Given the description of an element on the screen output the (x, y) to click on. 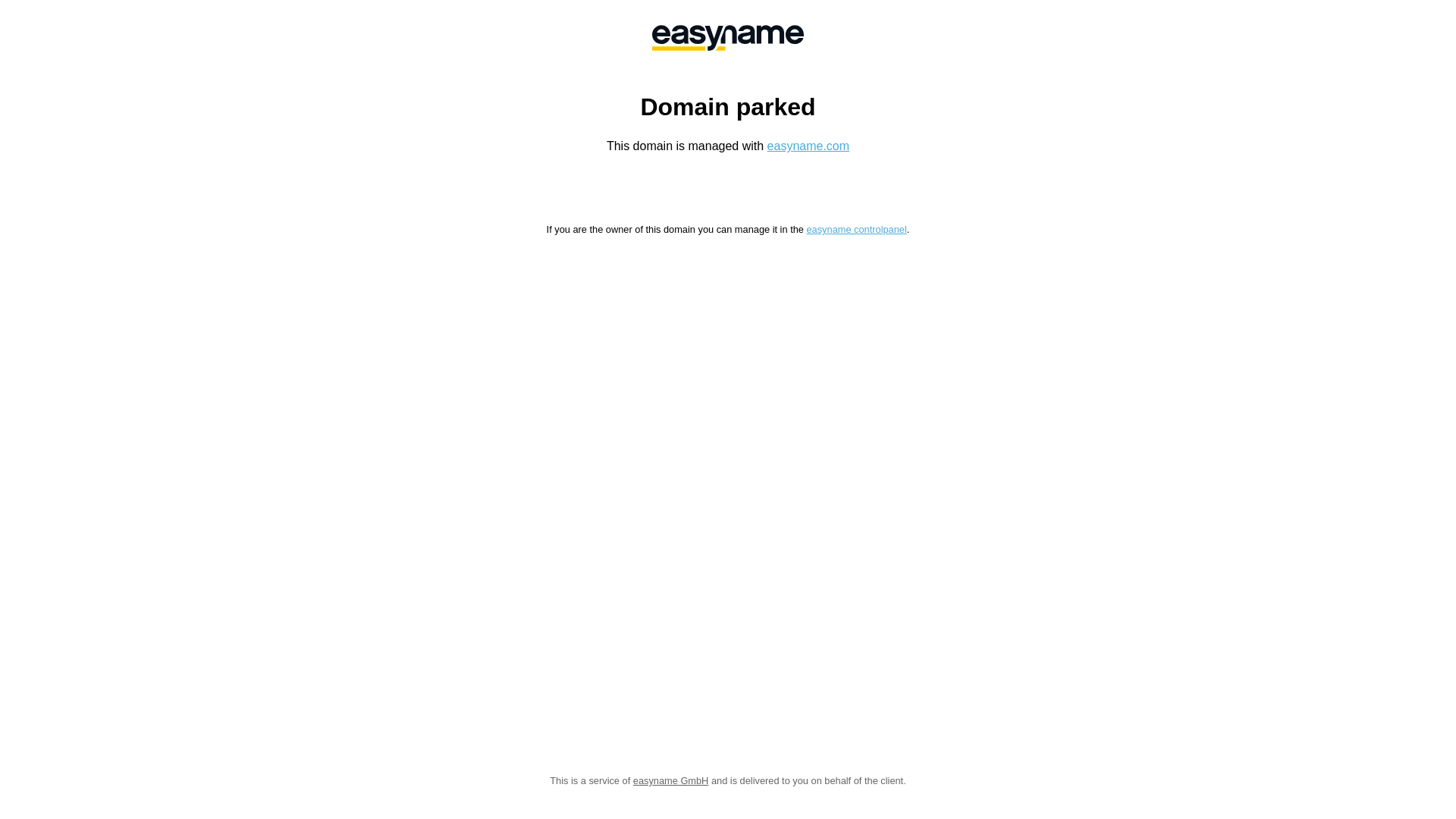
easyname GmbH Element type: text (671, 780)
easyname GmbH Element type: hover (727, 37)
easyname.com Element type: text (808, 145)
easyname controlpanel Element type: text (856, 229)
